Given the description of an element on the screen output the (x, y) to click on. 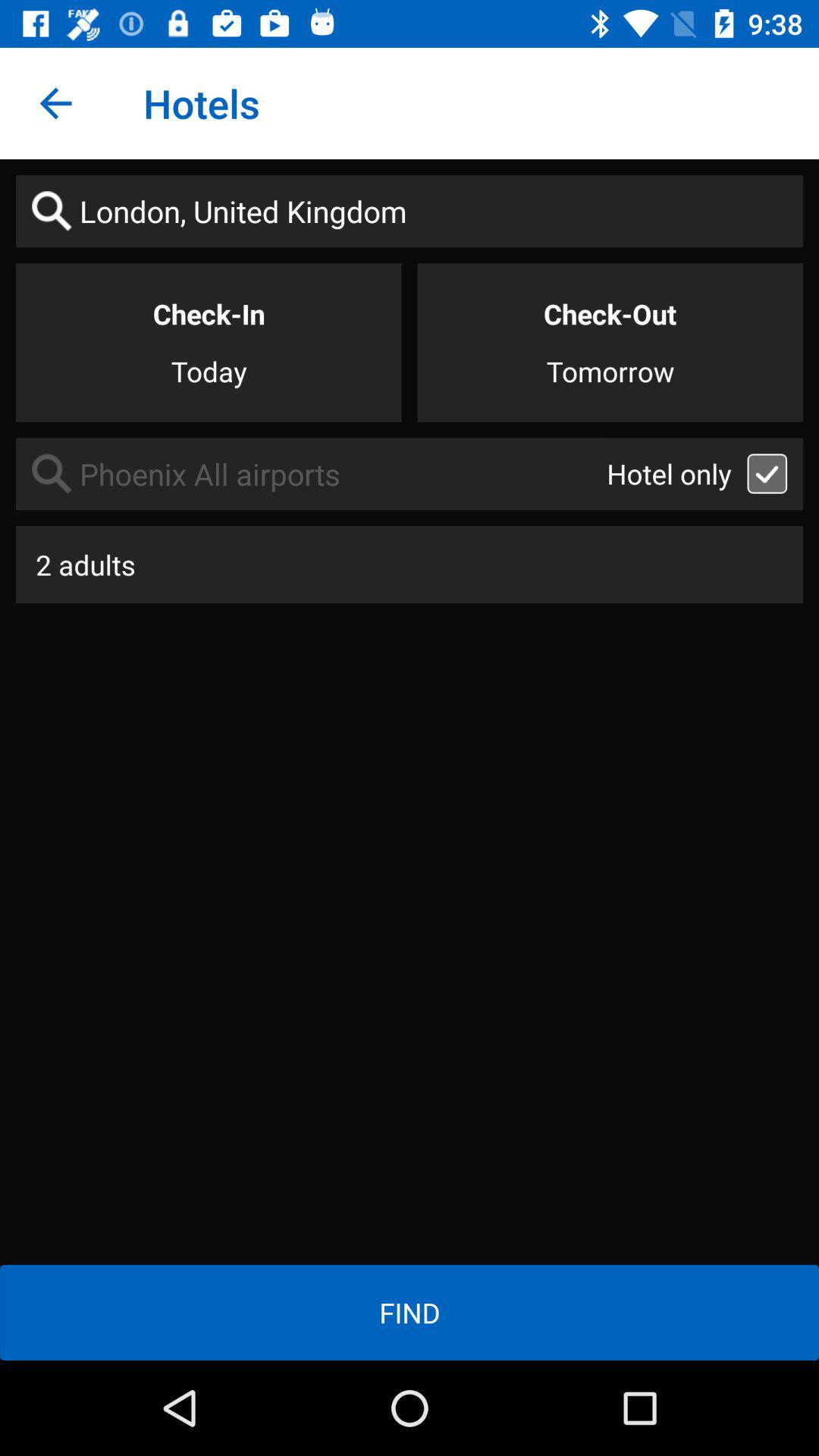
turn off find item (409, 1312)
